Given the description of an element on the screen output the (x, y) to click on. 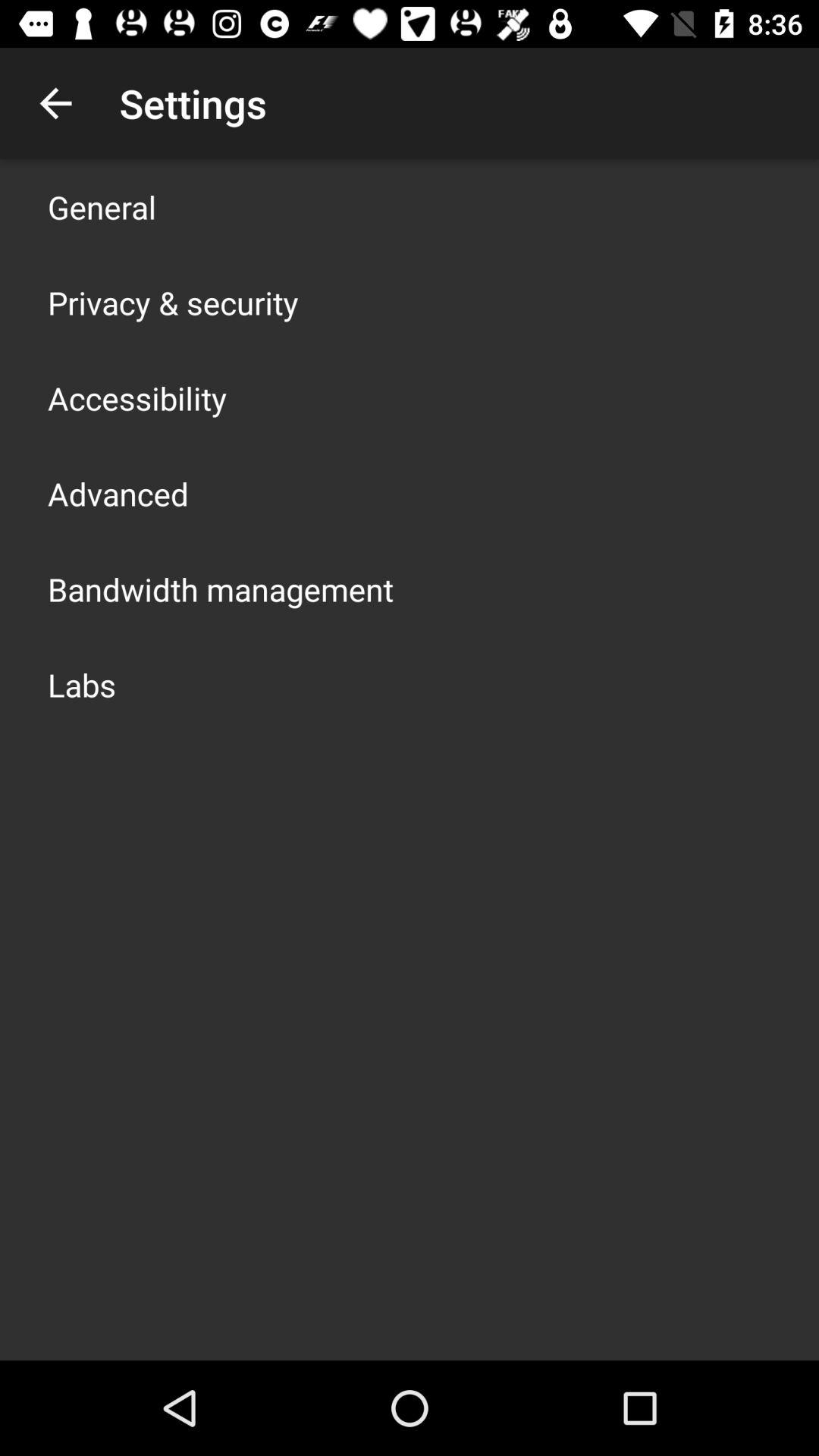
flip to privacy & security app (172, 302)
